Given the description of an element on the screen output the (x, y) to click on. 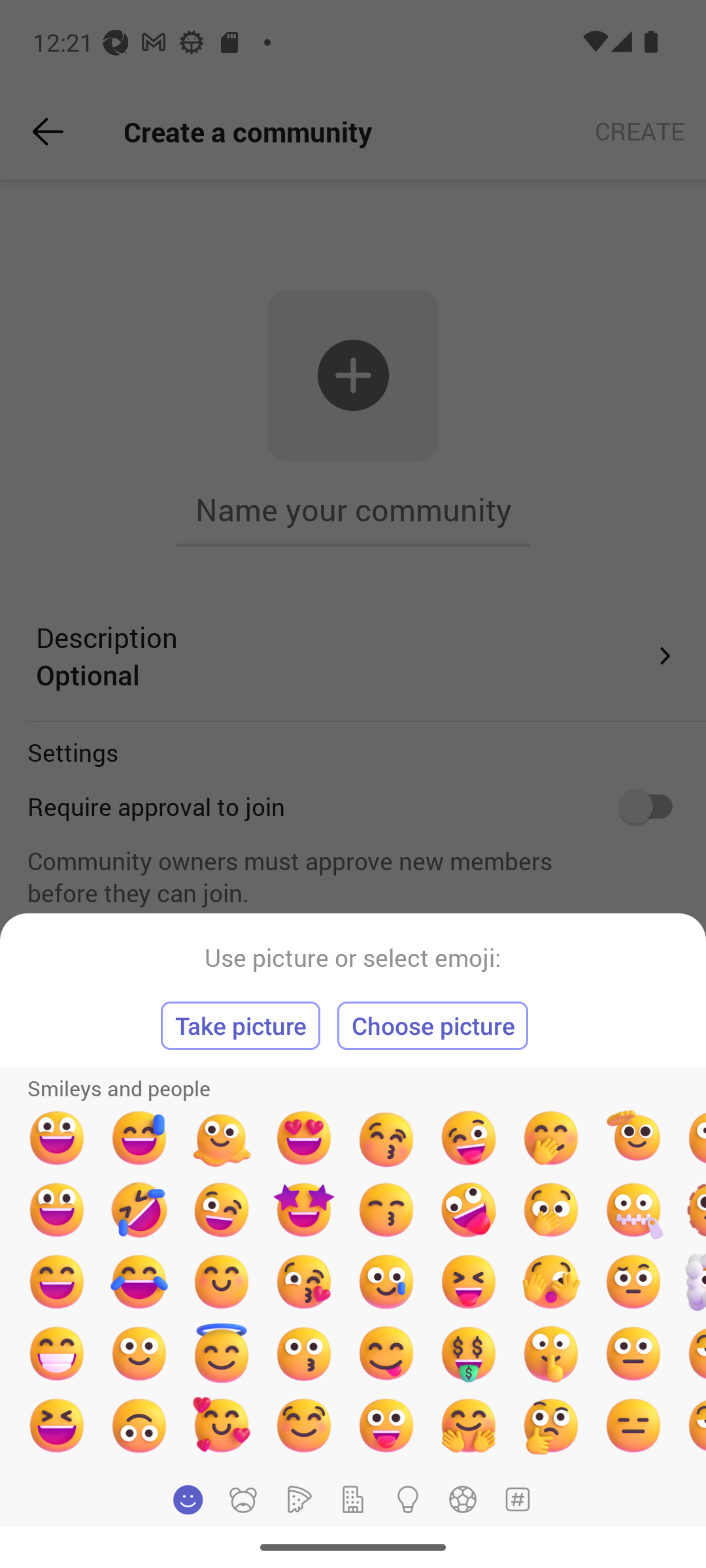
Take picture (240, 1025)
Choose picture (432, 1025)
Grinning face with big eyes emoji (56, 1138)
Sweat grinning emoji (139, 1138)
Melting face emoji (221, 1138)
Heart eyes emoji (303, 1138)
Kissing face with closed eyes emoji (386, 1138)
Winking tongue out emoji (468, 1138)
Giggle emoji (550, 1138)
Saluting face emoji (633, 1138)
Happy face emoji (56, 1210)
Rolling on the floor laughing emoji (139, 1210)
Wink emoji (221, 1210)
Star eyes emoji (303, 1210)
Kissing face with smiling eyes emoji (386, 1210)
Zany face emoji (468, 1210)
Hand over mouth emoji (550, 1210)
Zipper mouth face emoji (633, 1210)
Grinning face with smiling eyes emoji (56, 1281)
Crying with laughter emoji (139, 1281)
Smile eyes emoji (221, 1281)
Face blowing a kiss emoji (303, 1281)
Smiling face with tear emoji (386, 1281)
Squinting face with tongue emoji (468, 1281)
Peeking eye emoji (550, 1281)
Wondering emoji (633, 1281)
Beaming face with smiling eyes emoji (56, 1353)
Smile emoji (139, 1353)
Angel emoji (221, 1353)
Kiss emoji (303, 1353)
Cheeky emoji (386, 1353)
Money mouth face emoji (468, 1353)
My lips are sealed emoji (550, 1353)
Speechless emoji (633, 1353)
Laugh emoji (56, 1425)
Upside down face emoji (139, 1425)
In love emoji (221, 1425)
Mmmmm… emoji (303, 1425)
Face with tongue emoji (386, 1425)
Hugging face emoji (468, 1425)
Thinking emoji (550, 1425)
Expressionless emoji (633, 1425)
Smileys and people, selected (188, 1499)
Animals, not selected (243, 1499)
Food, not selected (297, 1499)
Travel and places, not selected (352, 1499)
Objects, not selected (407, 1499)
Activities, not selected (462, 1499)
Symbols, not selected (517, 1499)
